Given the description of an element on the screen output the (x, y) to click on. 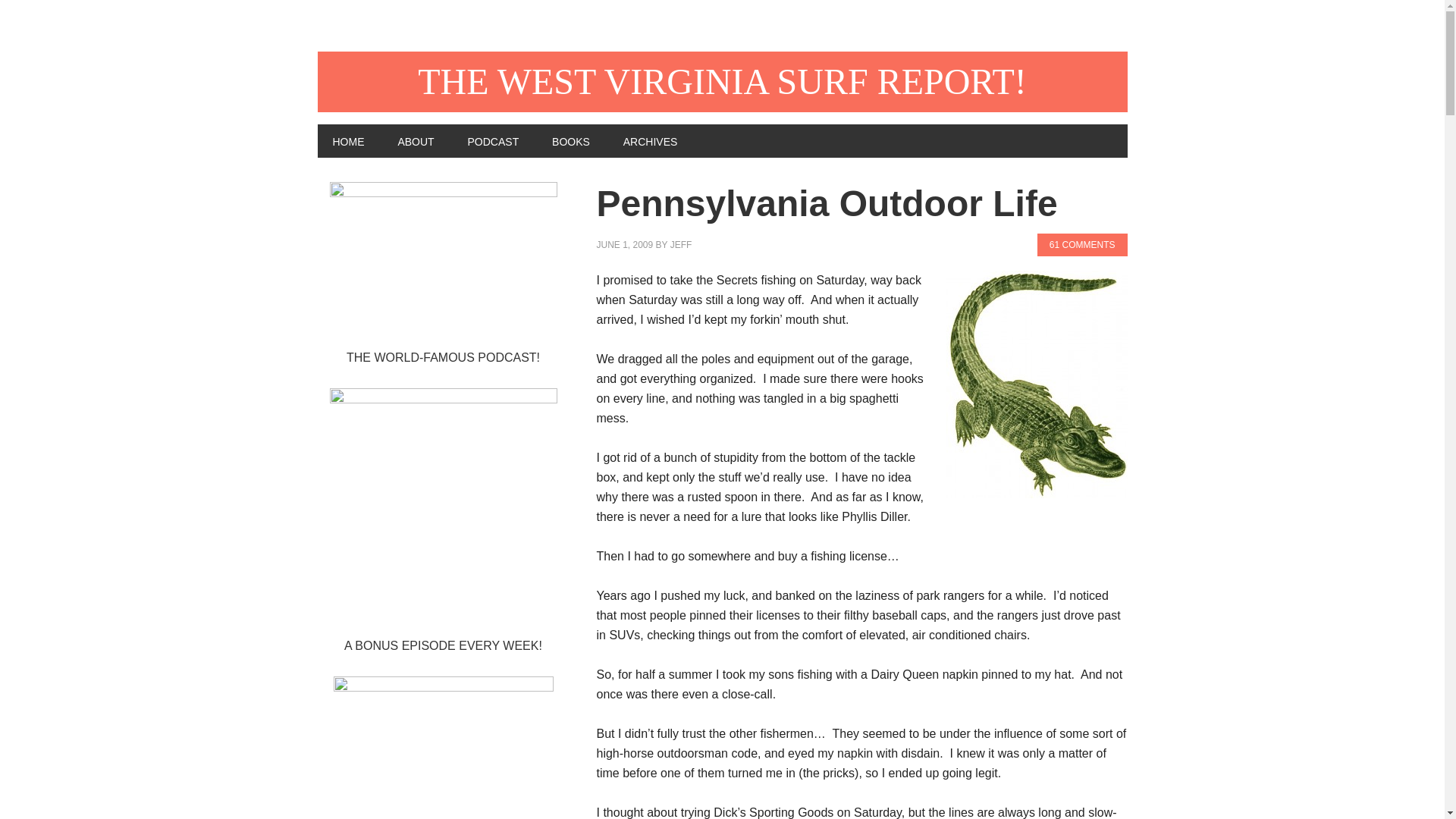
PODCAST (493, 141)
Get an extra episode every week! (443, 747)
BOOKS (571, 141)
JEFF (681, 244)
ABOUT (414, 141)
HOME (347, 141)
THE WEST VIRGINIA SURF REPORT! (721, 81)
61 COMMENTS (1081, 244)
ARCHIVES (650, 141)
